Given the description of an element on the screen output the (x, y) to click on. 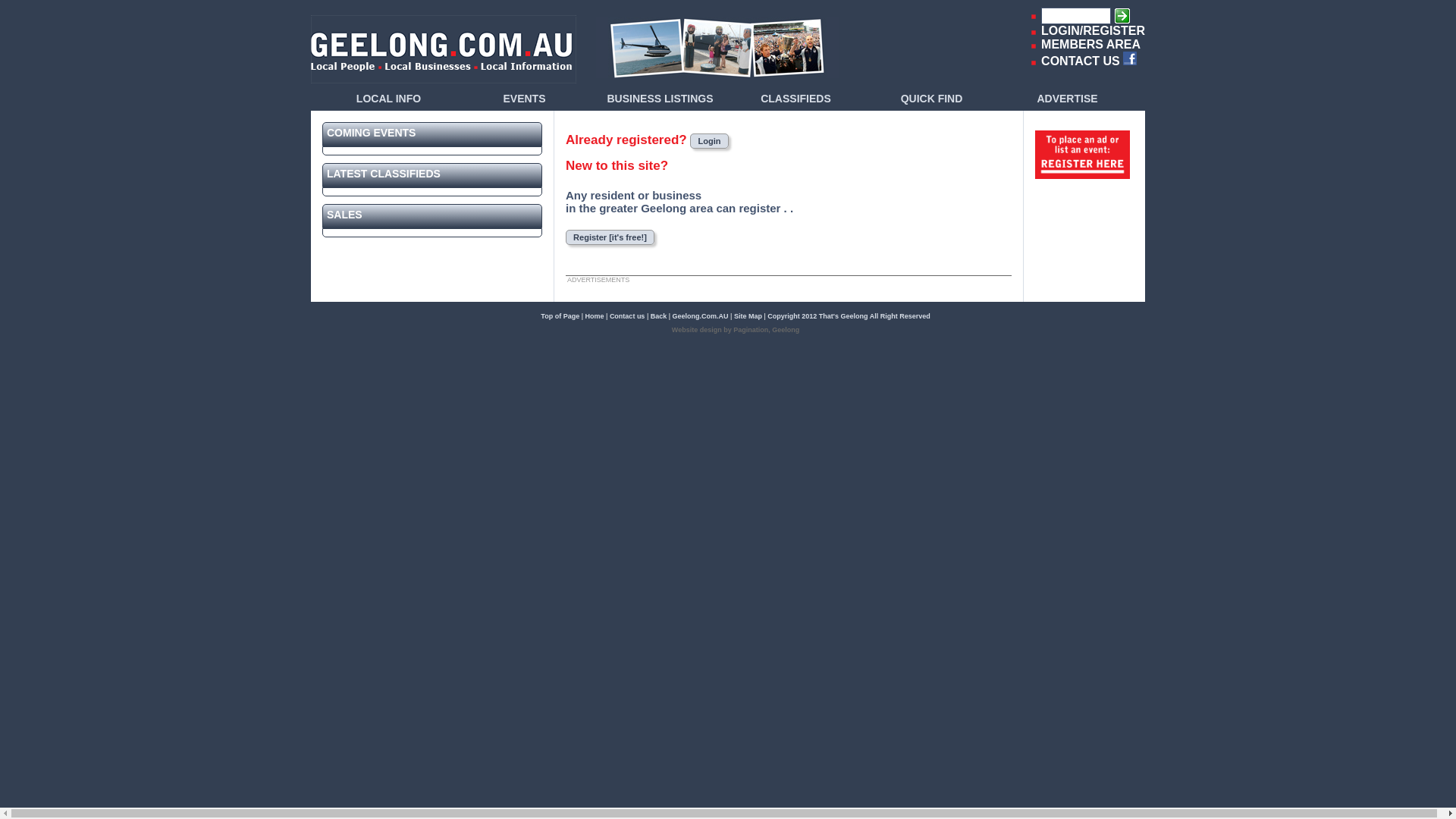
CONTACT US Element type: text (1080, 60)
  Register [it's free!]   Element type: text (609, 236)
  Login   Element type: text (709, 140)
Geelong.Com.AU Element type: text (700, 316)
Website design by Pagination, Geelong Element type: text (735, 329)
Back Element type: text (658, 316)
Top of Page Element type: text (559, 316)
Contact us Element type: text (627, 316)
Site Map Element type: text (748, 316)
LOGIN/REGISTER Element type: text (1093, 30)
Copyright 2012 That's Geelong All Right Reserved Element type: text (848, 316)
MEMBERS AREA Element type: text (1090, 43)
Home Element type: text (594, 316)
